Given the description of an element on the screen output the (x, y) to click on. 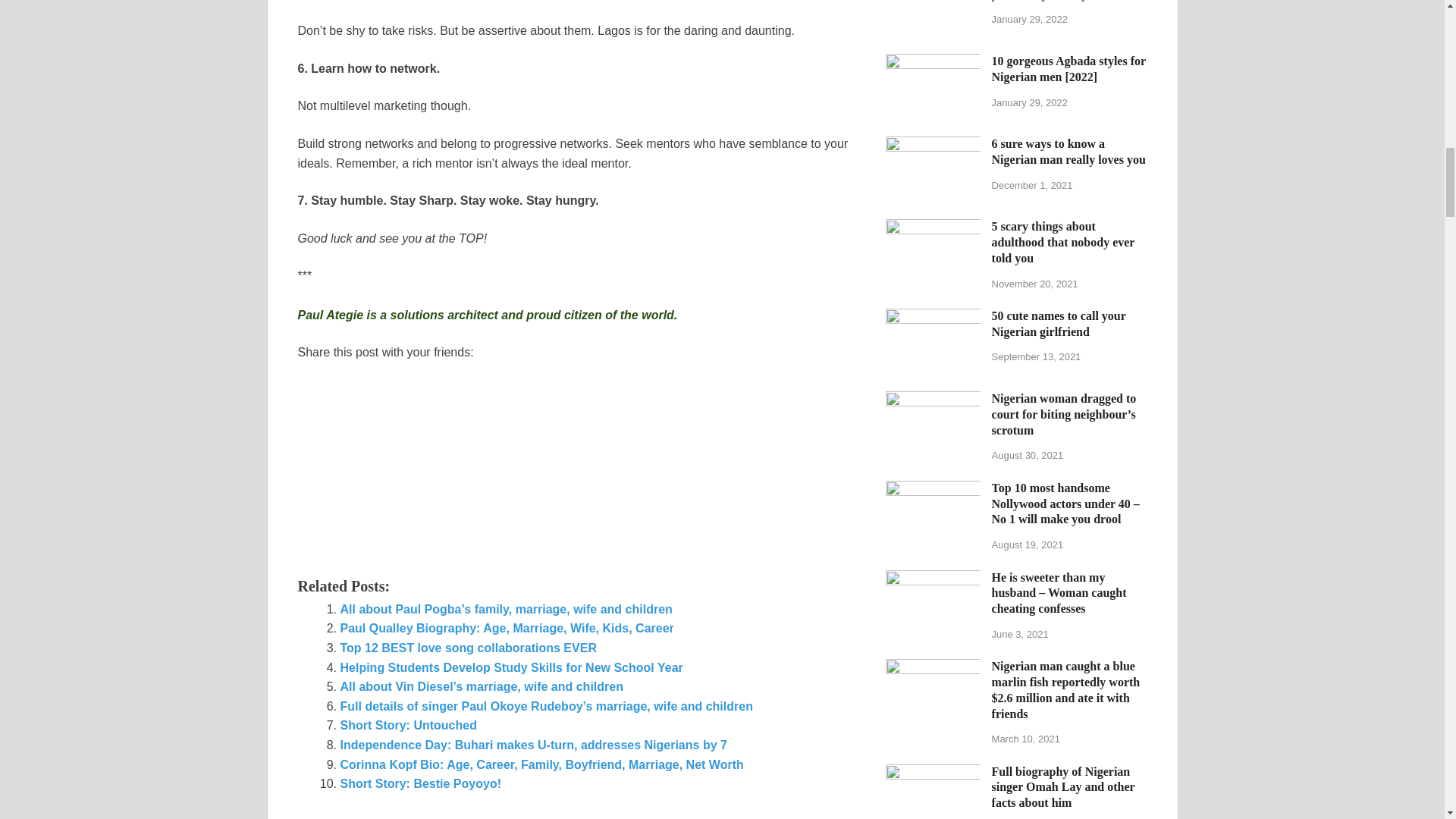
Short Story: Bestie Poyoyo! (419, 783)
Paul Qualley Biography: Age, Marriage, Wife, Kids, Career (505, 627)
Helping Students Develop Study Skills for New School Year (510, 667)
Short Story: Untouched (407, 725)
Top 12 BEST love song collaborations EVER (467, 647)
